Given the description of an element on the screen output the (x, y) to click on. 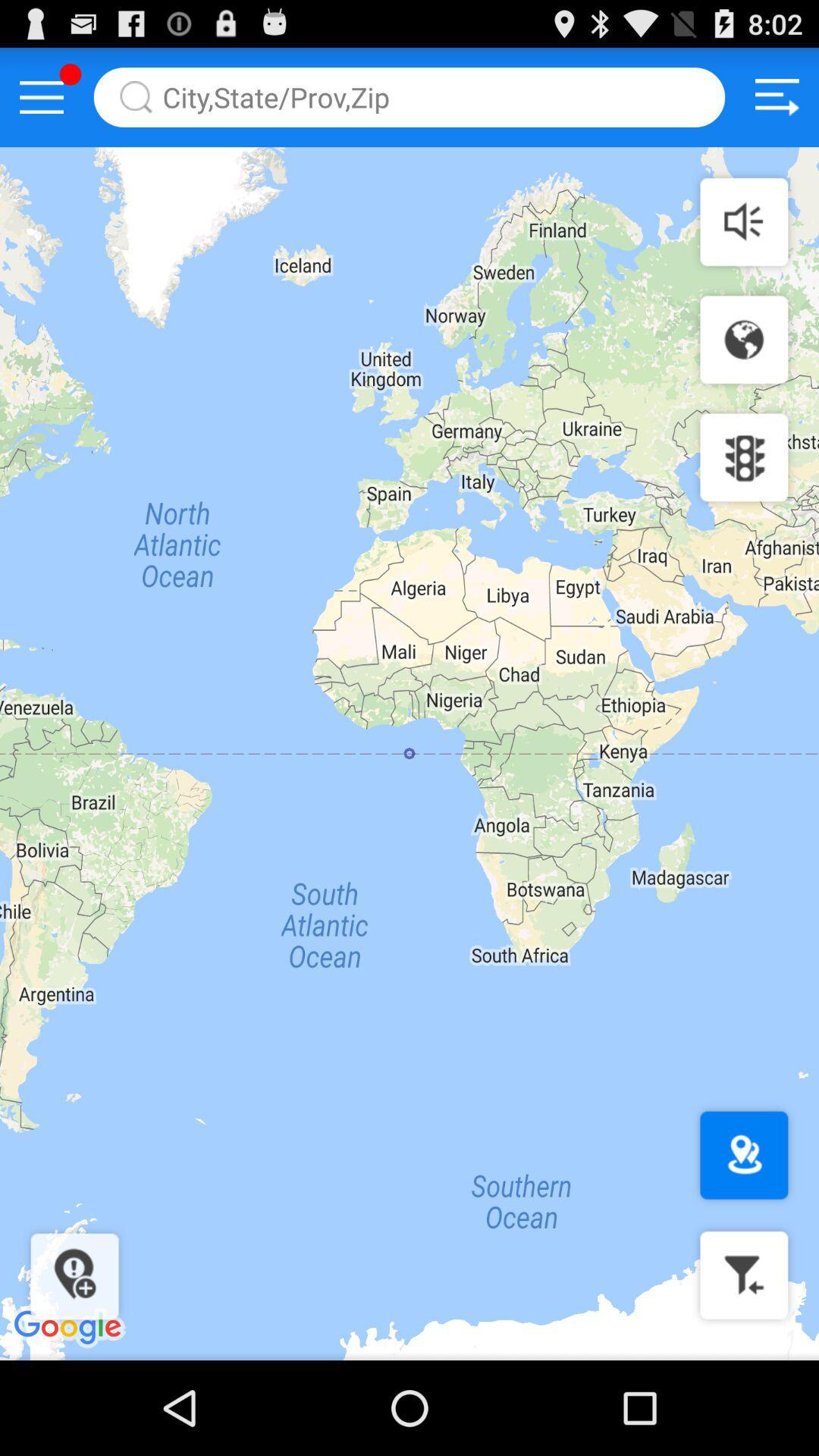
closer map (744, 1275)
